Given the description of an element on the screen output the (x, y) to click on. 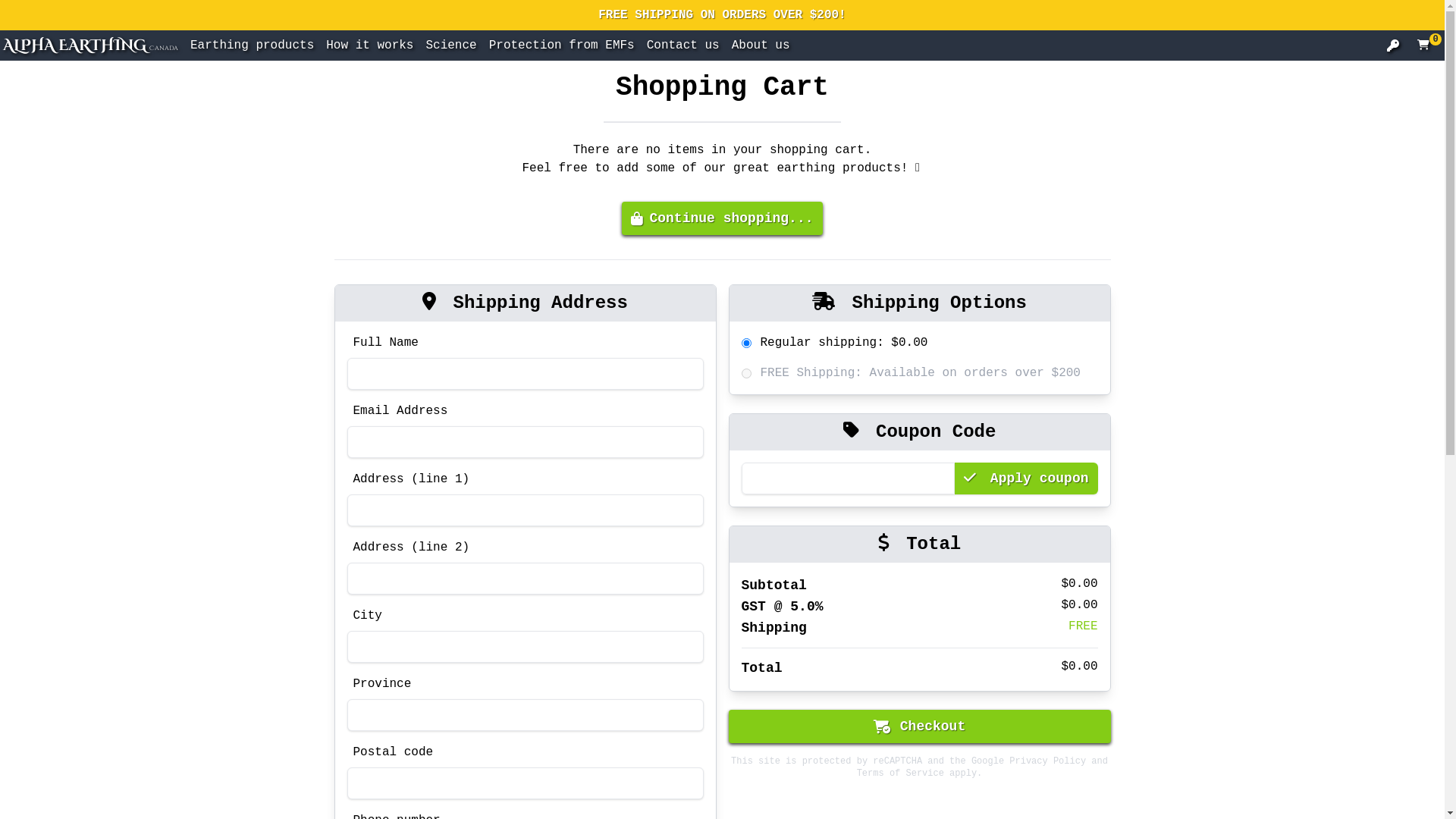
Earthing products Element type: text (252, 45)
About us Element type: text (760, 45)
Contact us Element type: text (682, 45)
Protection from EMFs Element type: text (561, 45)
Terms of Service Element type: text (900, 773)
0 Element type: text (1424, 45)
Apply coupon Element type: text (1025, 478)
How it works Element type: text (369, 45)
Continue shopping... Element type: text (721, 218)
Science Element type: text (450, 45)
ALPHA EARTHING
Canada Element type: text (90, 45)
Privacy Policy Element type: text (1047, 761)
Checkout Element type: text (919, 726)
